Given the description of an element on the screen output the (x, y) to click on. 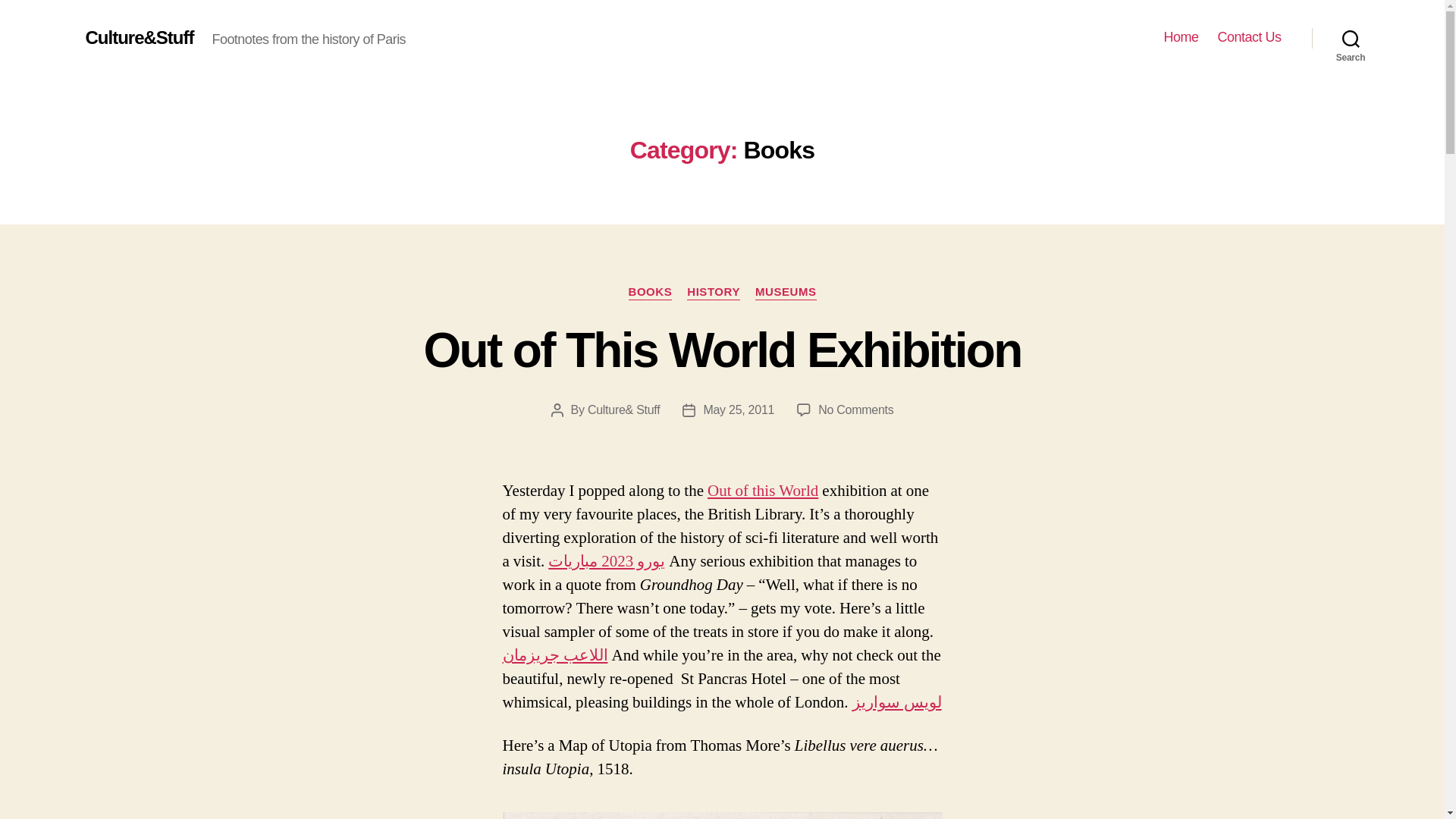
Search (1350, 37)
Contact Us (1249, 37)
Out of This World Exhibition (721, 349)
May 25, 2011 (738, 409)
HISTORY (713, 292)
Out of this World (855, 409)
Thomas More's Utopia (762, 490)
BOOKS (722, 815)
Home (649, 292)
MUSEUMS (1180, 37)
